Given the description of an element on the screen output the (x, y) to click on. 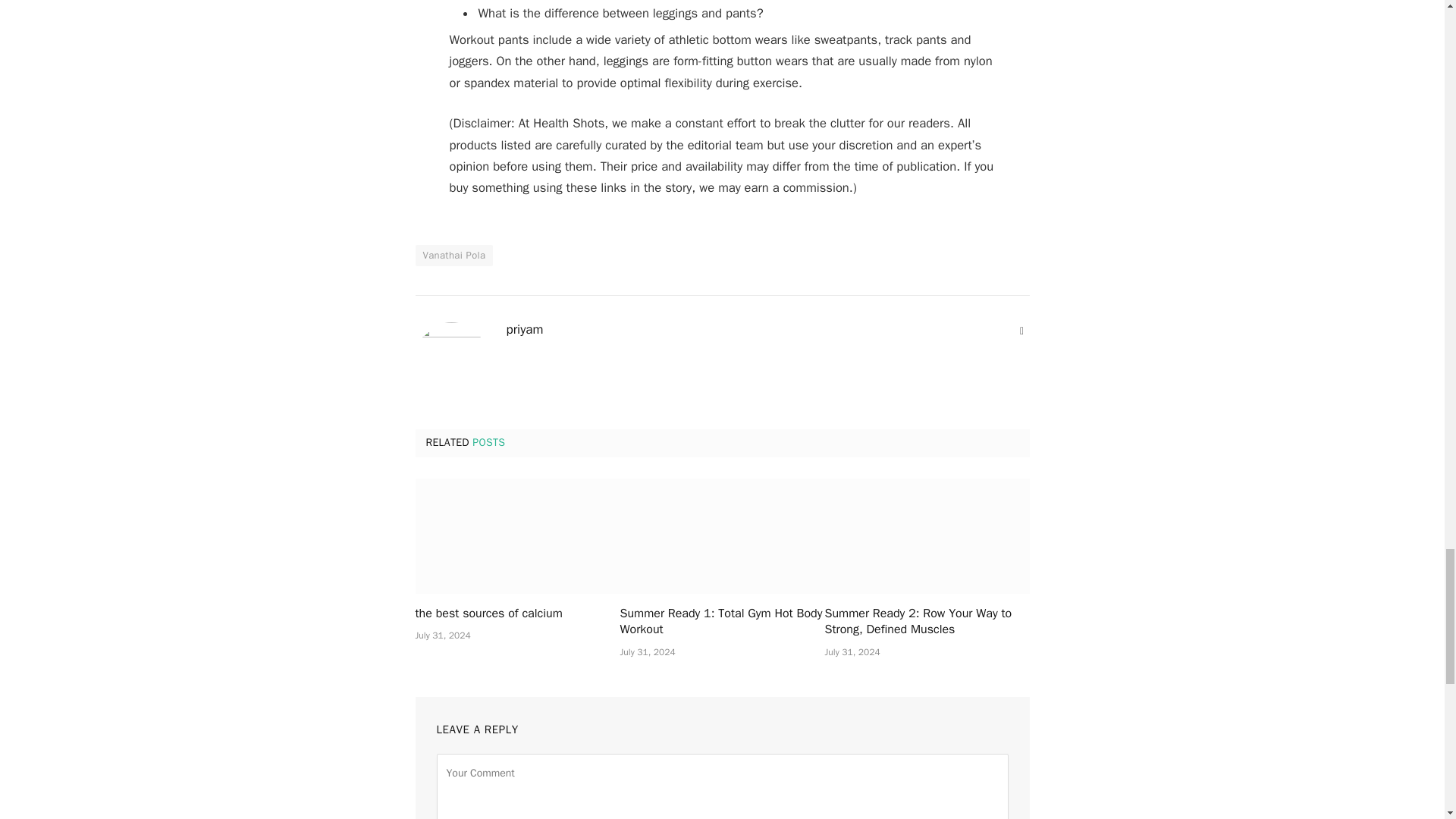
priyam (524, 329)
Vanathai Pola (453, 255)
Posts by priyam (524, 329)
the best sources of calcium (517, 614)
the best sources of calcium (517, 535)
Summer Ready 1: Total Gym Hot Body Workout (722, 535)
Summer Ready 2: Row Your Way to Strong, Defined Muscles (927, 622)
Summer Ready 2: Row Your Way to Strong, Defined Muscles (927, 535)
Website (1021, 331)
Website (1021, 331)
Summer Ready 1: Total Gym Hot Body Workout (722, 622)
